Given the description of an element on the screen output the (x, y) to click on. 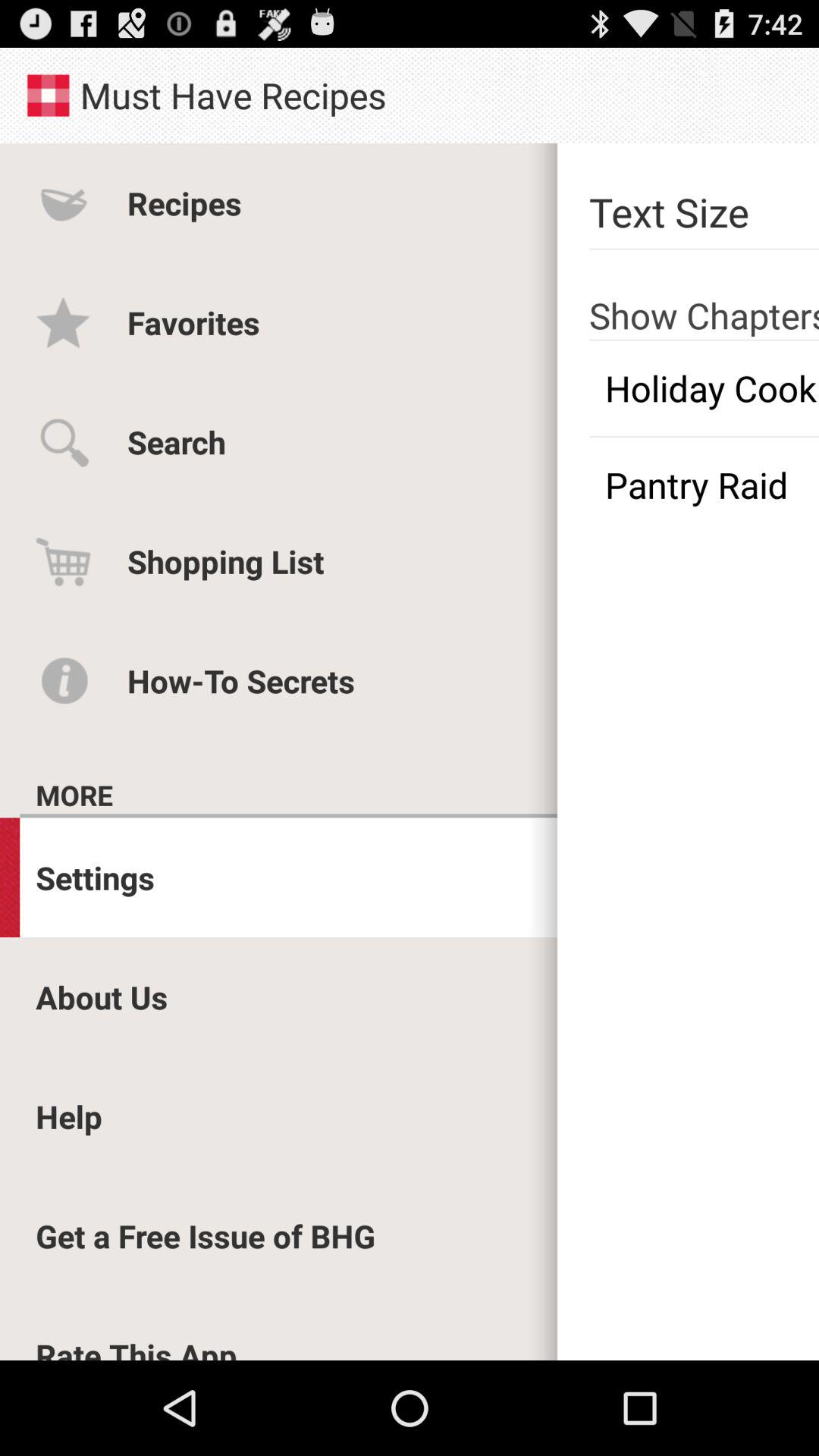
turn on the pantry raid checkbox (704, 484)
